Given the description of an element on the screen output the (x, y) to click on. 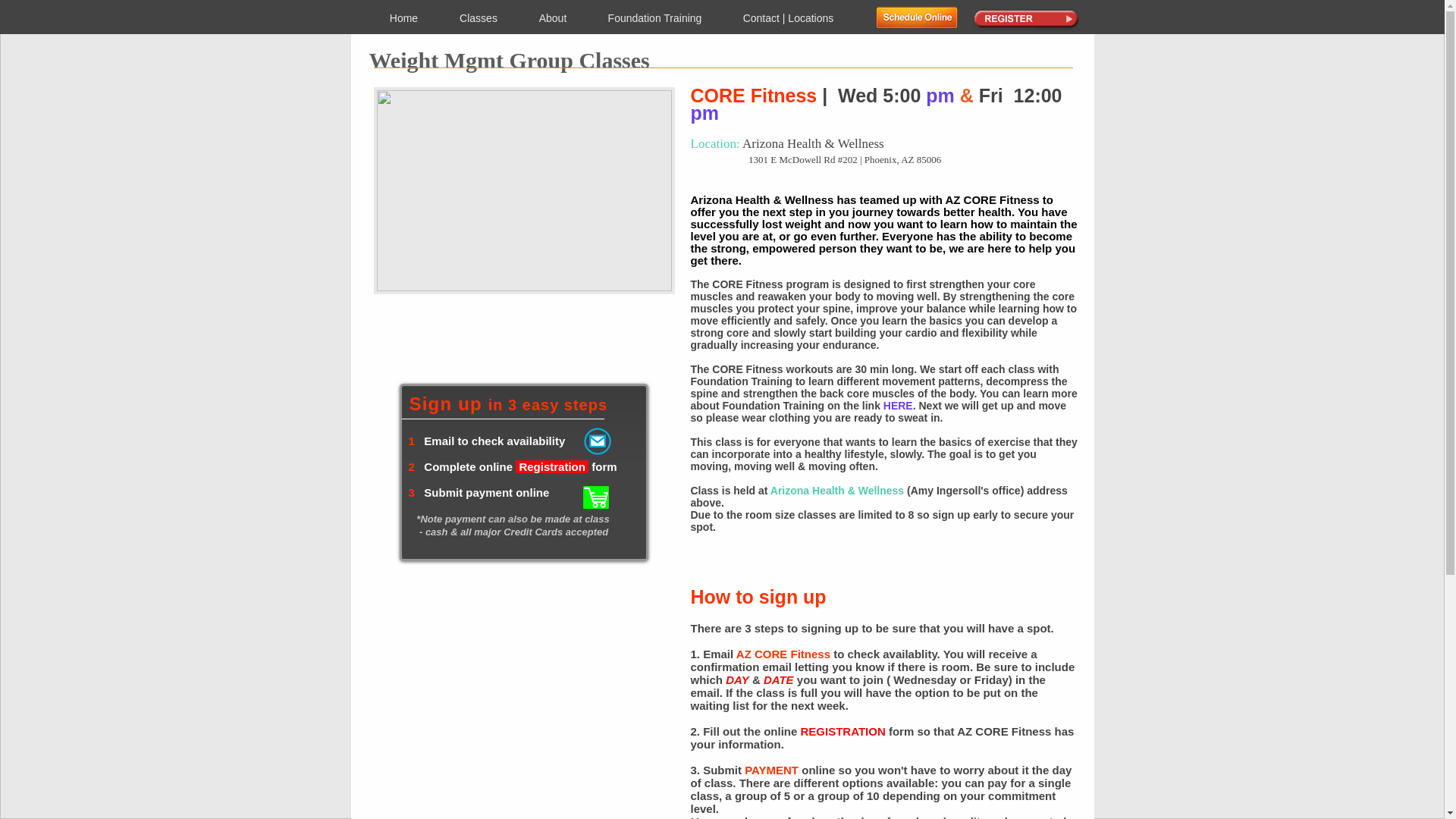
HERE (897, 405)
PAYMENT (770, 769)
About (553, 17)
Home (403, 17)
Registration  (553, 466)
AZ CORE Fitness (782, 653)
REGISTRATION (842, 730)
Classes (478, 17)
Foundation Training (654, 17)
Wix-Description-block.png (523, 190)
